Given the description of an element on the screen output the (x, y) to click on. 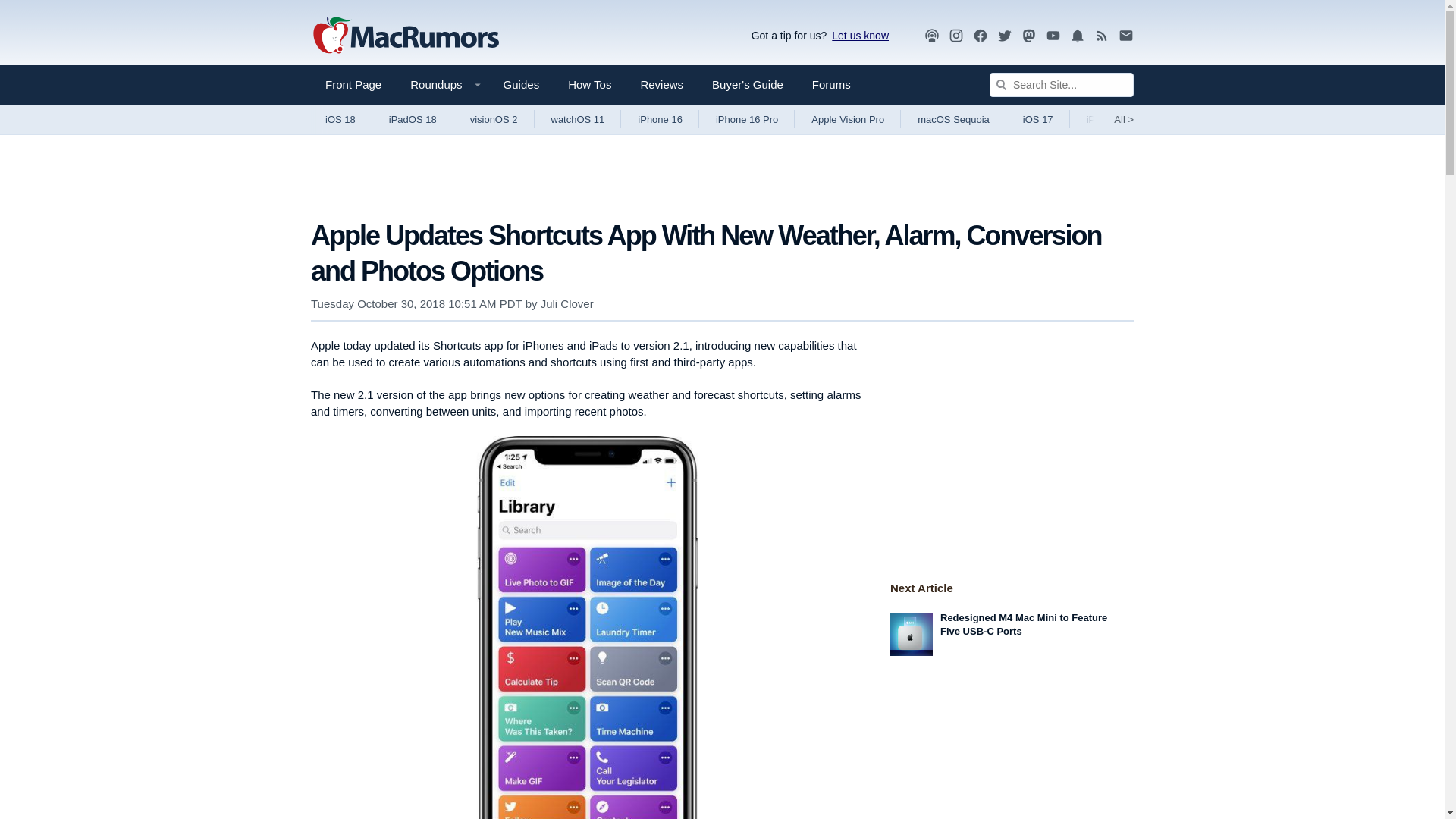
RSS (1101, 35)
Notifications (1077, 35)
Apple, Mac, iPhone, iPad News and Rumors (405, 36)
Twitter (1004, 35)
MacRumors Push Notifications (1077, 35)
Mastodon (1029, 35)
YouTube (1053, 35)
How Tos (589, 84)
YouTube (1053, 35)
Mastodon (1029, 35)
